Given the description of an element on the screen output the (x, y) to click on. 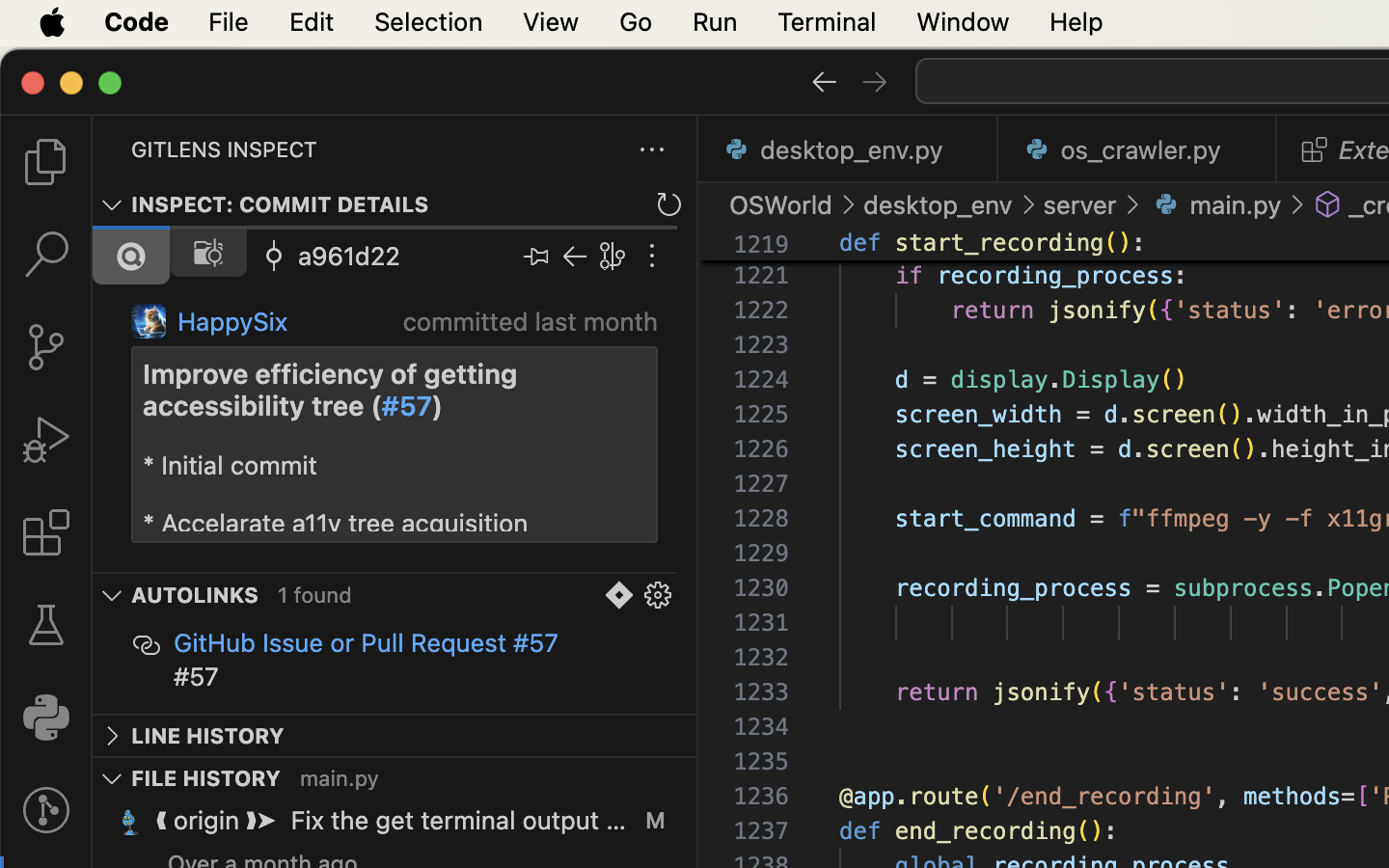
1 found Element type: AXStaticText (315, 595)
 Element type: AXStaticText (273, 256)
 Element type: AXGroup (46, 624)
main.py Element type: AXStaticText (339, 777)
 Element type: AXButton (824, 80)
